Given the description of an element on the screen output the (x, y) to click on. 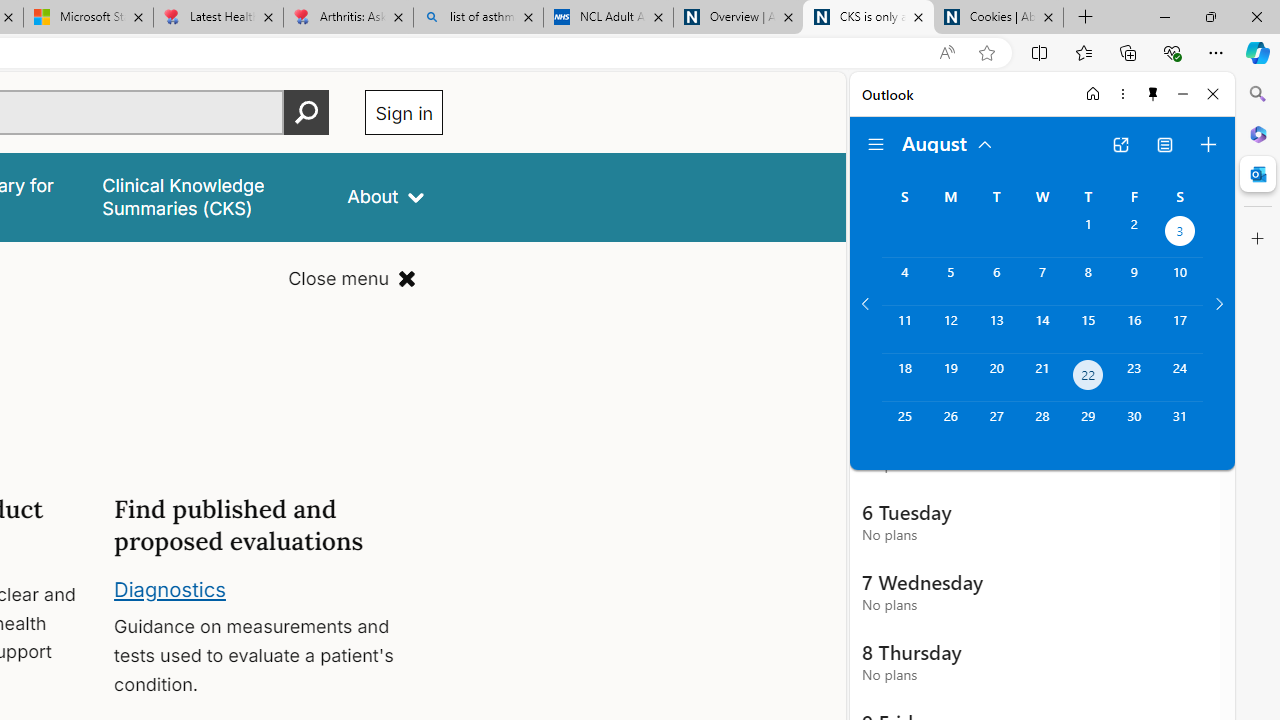
Thursday, August 1, 2024.  (1088, 233)
Sunday, August 18, 2024.  (904, 377)
Thursday, August 22, 2024. Today.  (1088, 377)
Thursday, August 8, 2024.  (1088, 281)
Cookies | About | NICE (998, 17)
Friday, August 16, 2024.  (1134, 329)
Monday, August 12, 2024.  (950, 329)
Tuesday, August 20, 2024.  (996, 377)
